Given the description of an element on the screen output the (x, y) to click on. 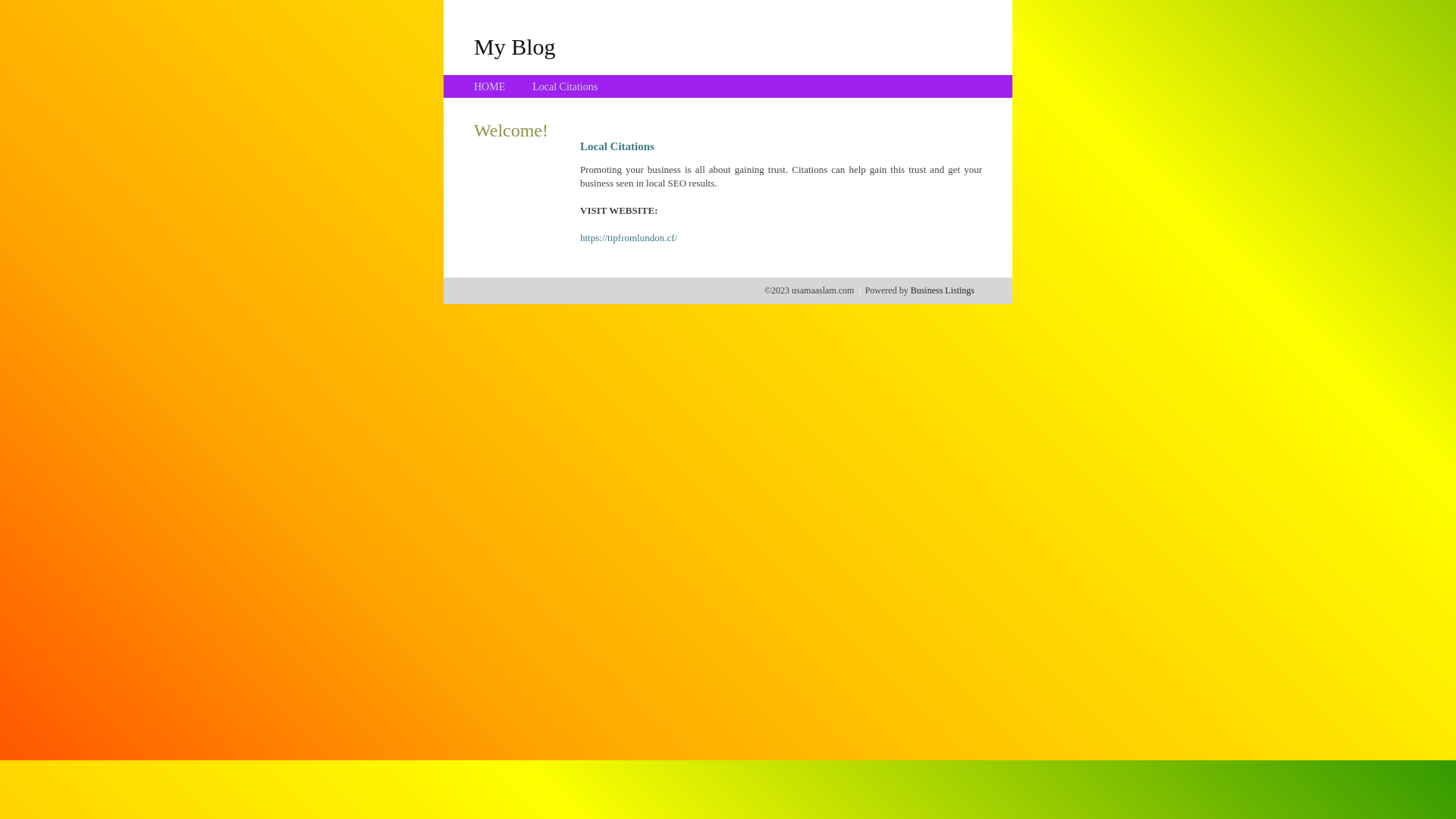
Business Listings Element type: text (942, 290)
Local Citations Element type: text (564, 86)
My Blog Element type: text (514, 46)
HOME Element type: text (489, 86)
https://tipfromlundon.cf/ Element type: text (628, 237)
